Given the description of an element on the screen output the (x, y) to click on. 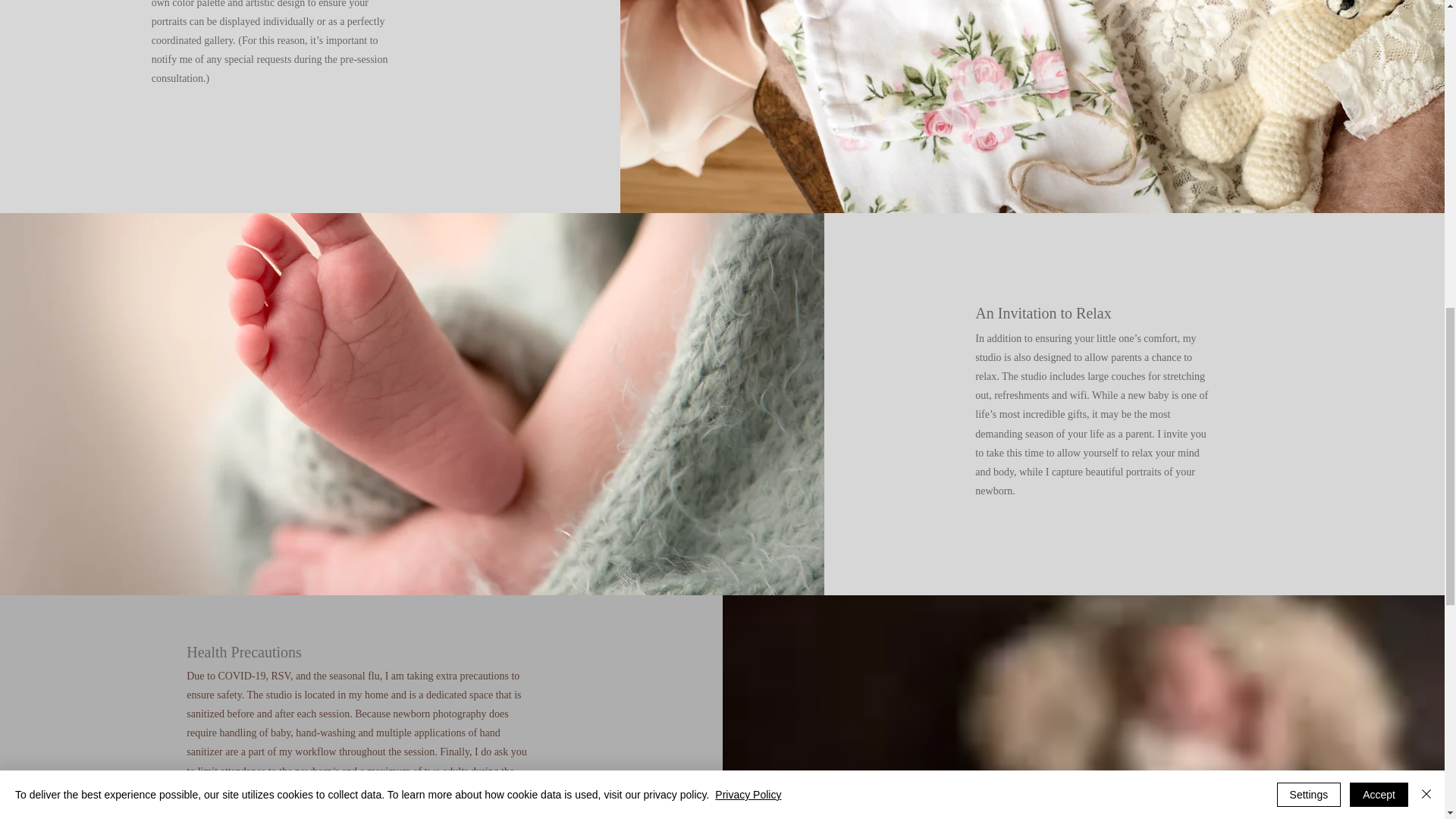
Explore Newborn Gallery (993, 814)
